Given the description of an element on the screen output the (x, y) to click on. 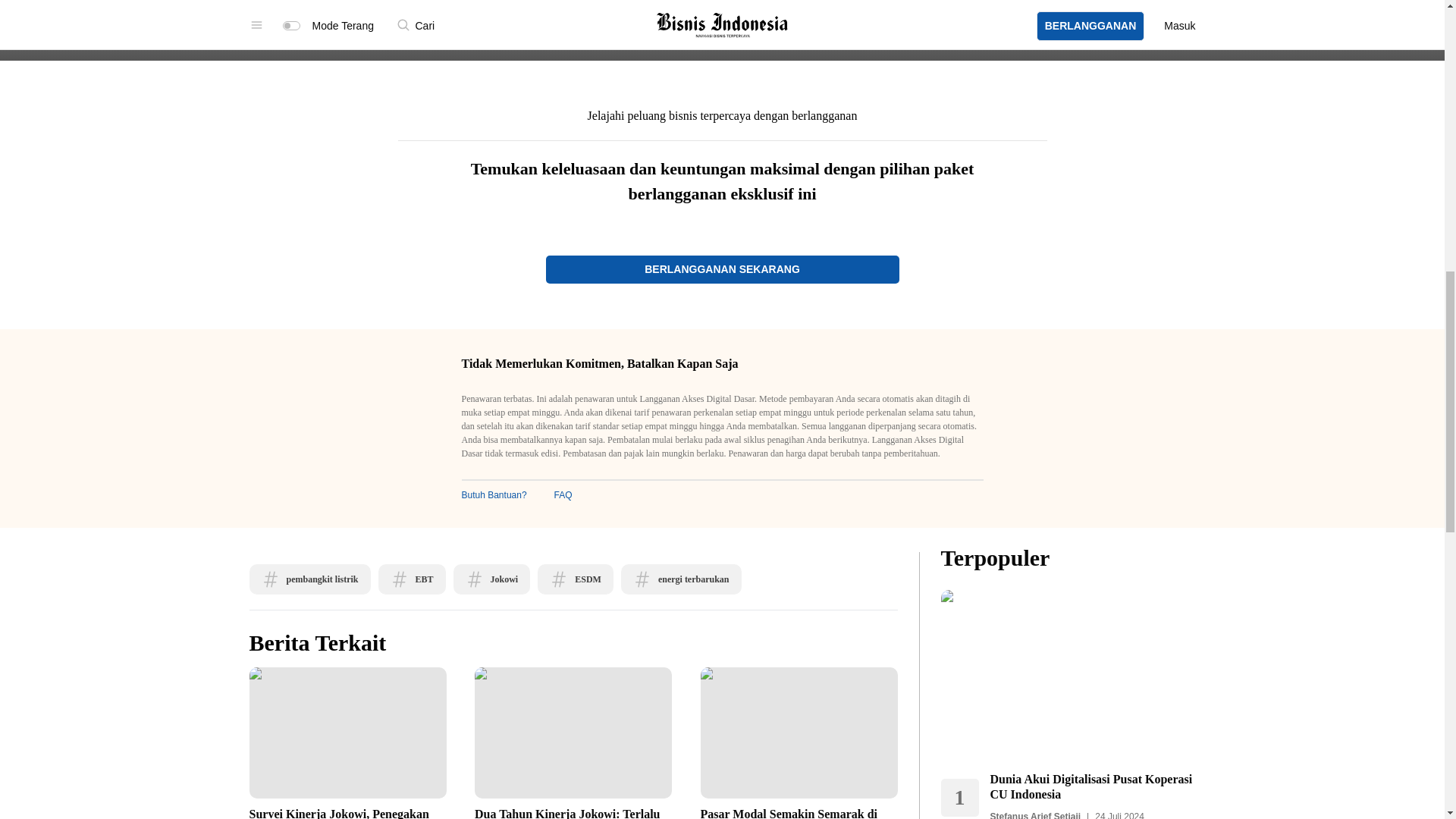
FAQ (563, 494)
Butuh Bantuan? (493, 494)
